Given the description of an element on the screen output the (x, y) to click on. 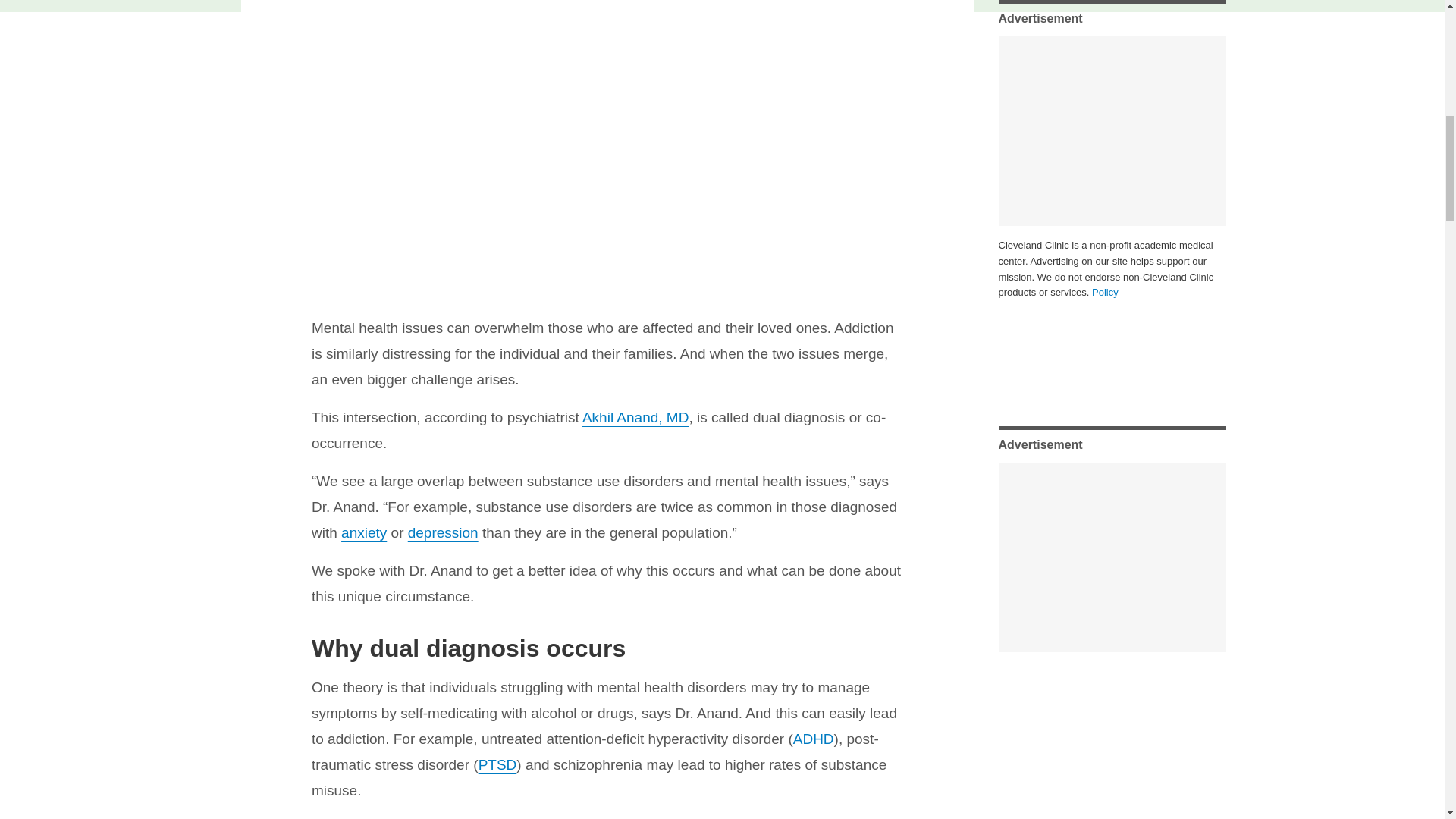
PTSD (497, 764)
depression (443, 532)
Akhil Anand, MD (635, 417)
AD (802, 738)
anxiety (363, 532)
